Given the description of an element on the screen output the (x, y) to click on. 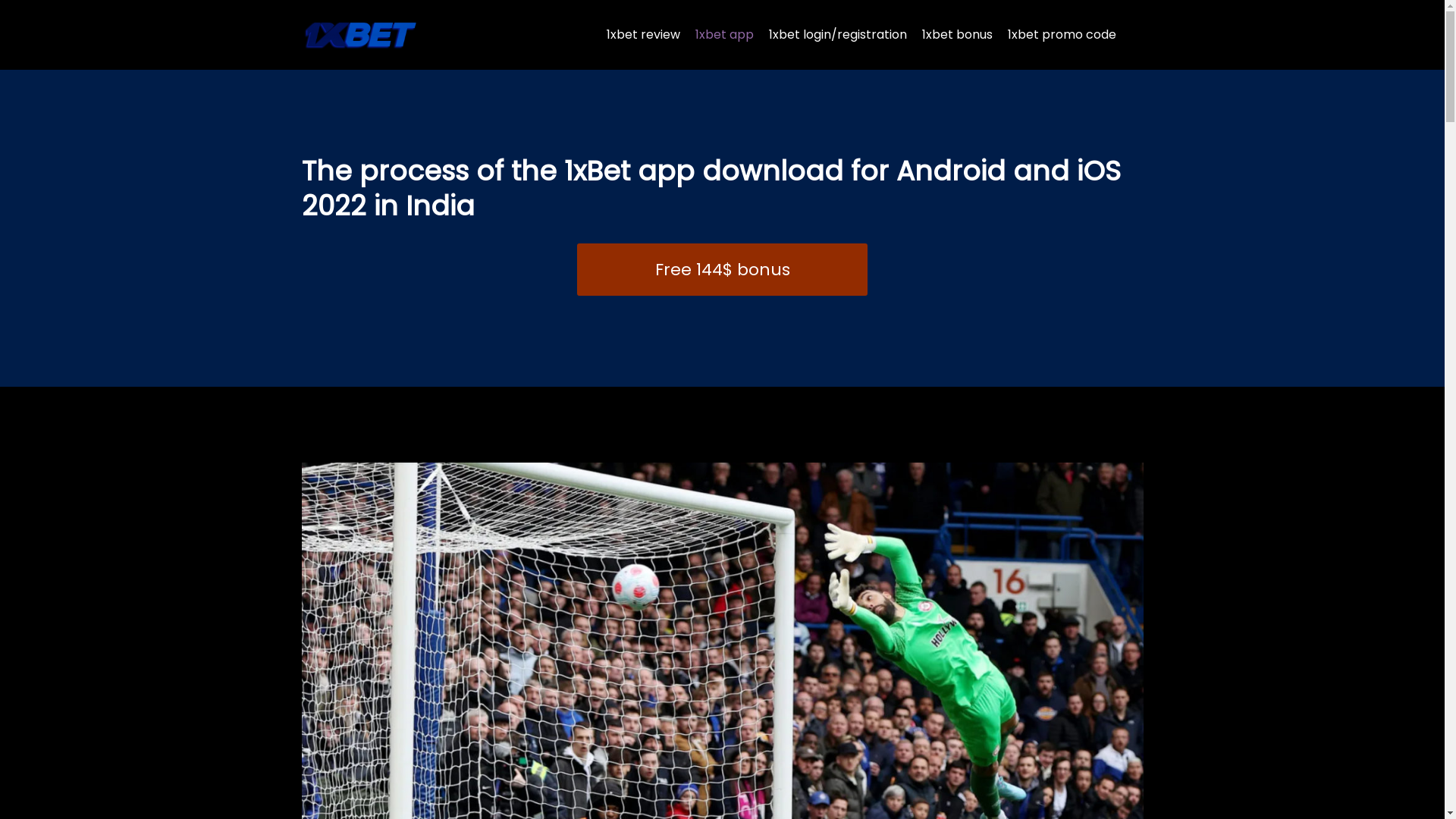
1xbet promo code Element type: text (1061, 34)
1xbet bonus Element type: text (957, 34)
1xbet app Element type: text (723, 34)
1xbet login/registration Element type: text (837, 34)
Free 144$ bonus Element type: text (722, 269)
1xbet review Element type: text (643, 34)
